Given the description of an element on the screen output the (x, y) to click on. 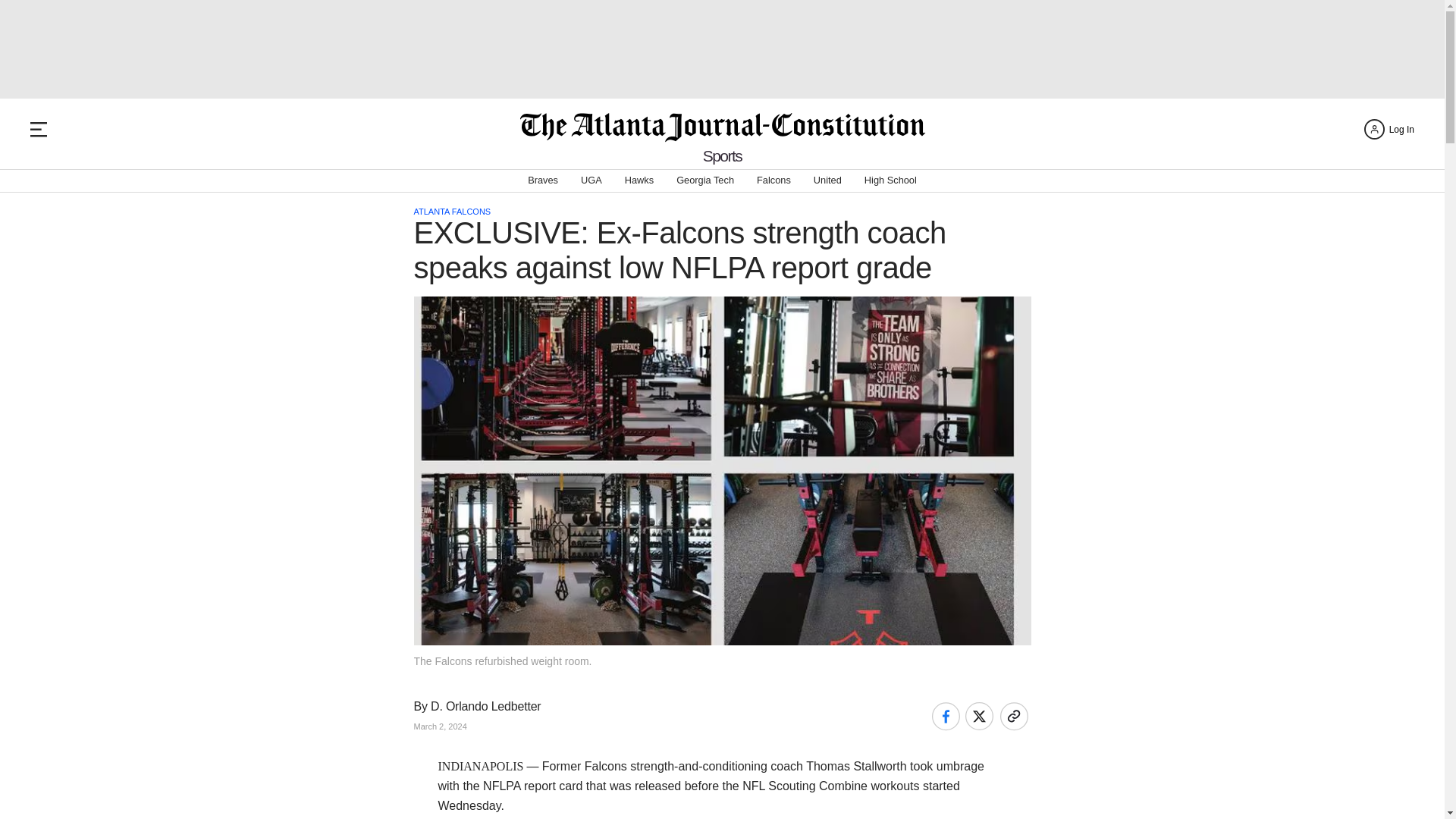
Falcons (773, 180)
UGA (591, 180)
Braves (542, 180)
Georgia Tech (705, 180)
Hawks (638, 180)
Sports (722, 155)
High School (890, 180)
United (827, 180)
